Given the description of an element on the screen output the (x, y) to click on. 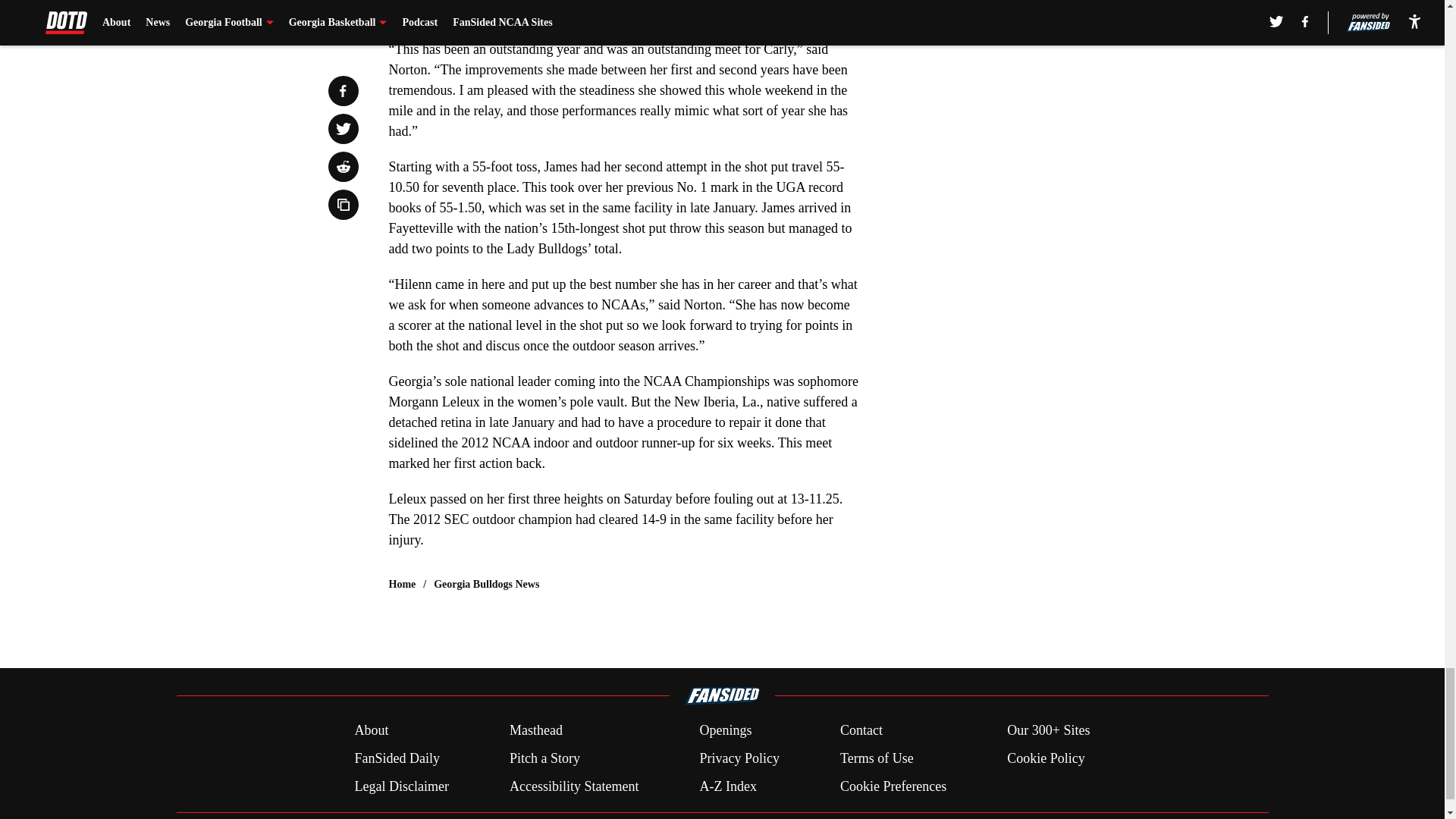
Pitch a Story (544, 758)
Privacy Policy (738, 758)
About (370, 730)
Cookie Policy (1045, 758)
Masthead (535, 730)
Terms of Use (877, 758)
Contact (861, 730)
Home (401, 584)
A-Z Index (726, 786)
Legal Disclaimer (400, 786)
